Given the description of an element on the screen output the (x, y) to click on. 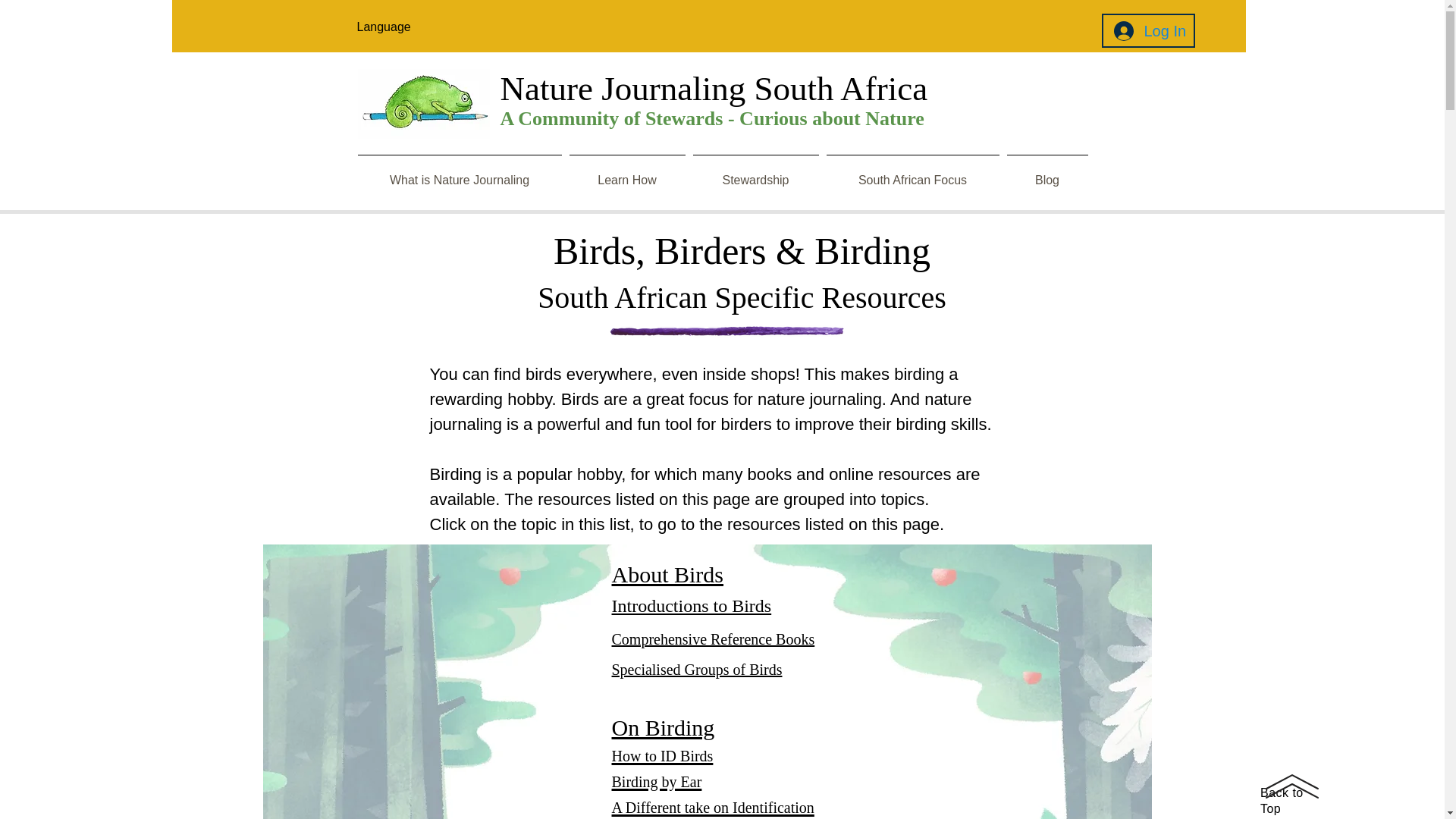
Specialised Groups of Birds (696, 669)
A Community of Stewards - Curious about Nature (712, 118)
Log In (1147, 30)
Learn How (627, 173)
Nature Journaling South Africa (714, 88)
Introductions to Birds (691, 605)
Comprehensive Reference Books (712, 638)
On Birding (662, 727)
How to ID Birds (662, 753)
What is Nature Journaling (458, 173)
Birding by Ear (656, 778)
About Birds (667, 574)
A Different take on Identification (712, 804)
